Given the description of an element on the screen output the (x, y) to click on. 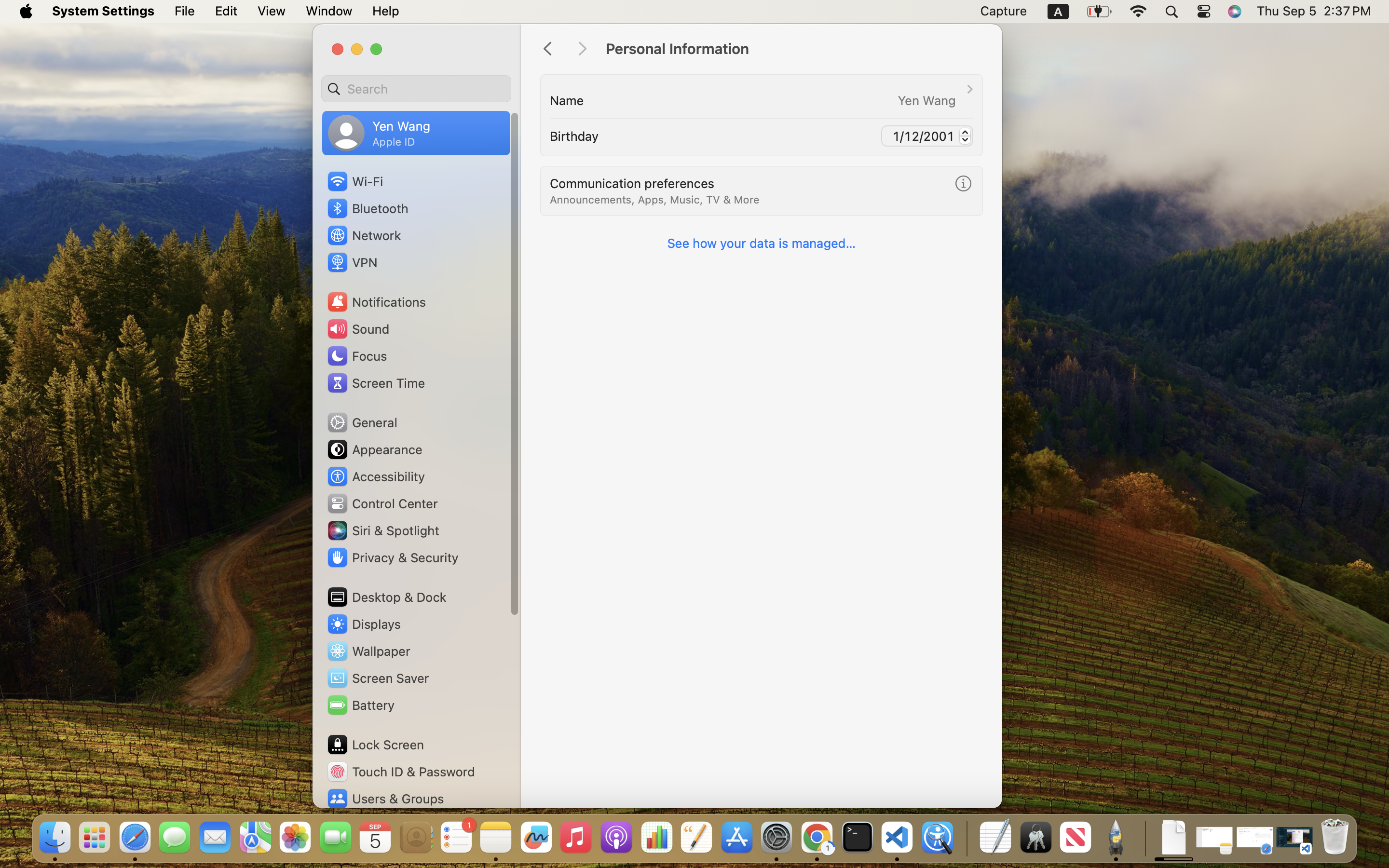
Communication preferences Element type: AXStaticText (631, 182)
Network Element type: AXStaticText (363, 234)
Siri & Spotlight Element type: AXStaticText (382, 530)
Focus Element type: AXStaticText (356, 355)
Screen Saver Element type: AXStaticText (377, 677)
